Given the description of an element on the screen output the (x, y) to click on. 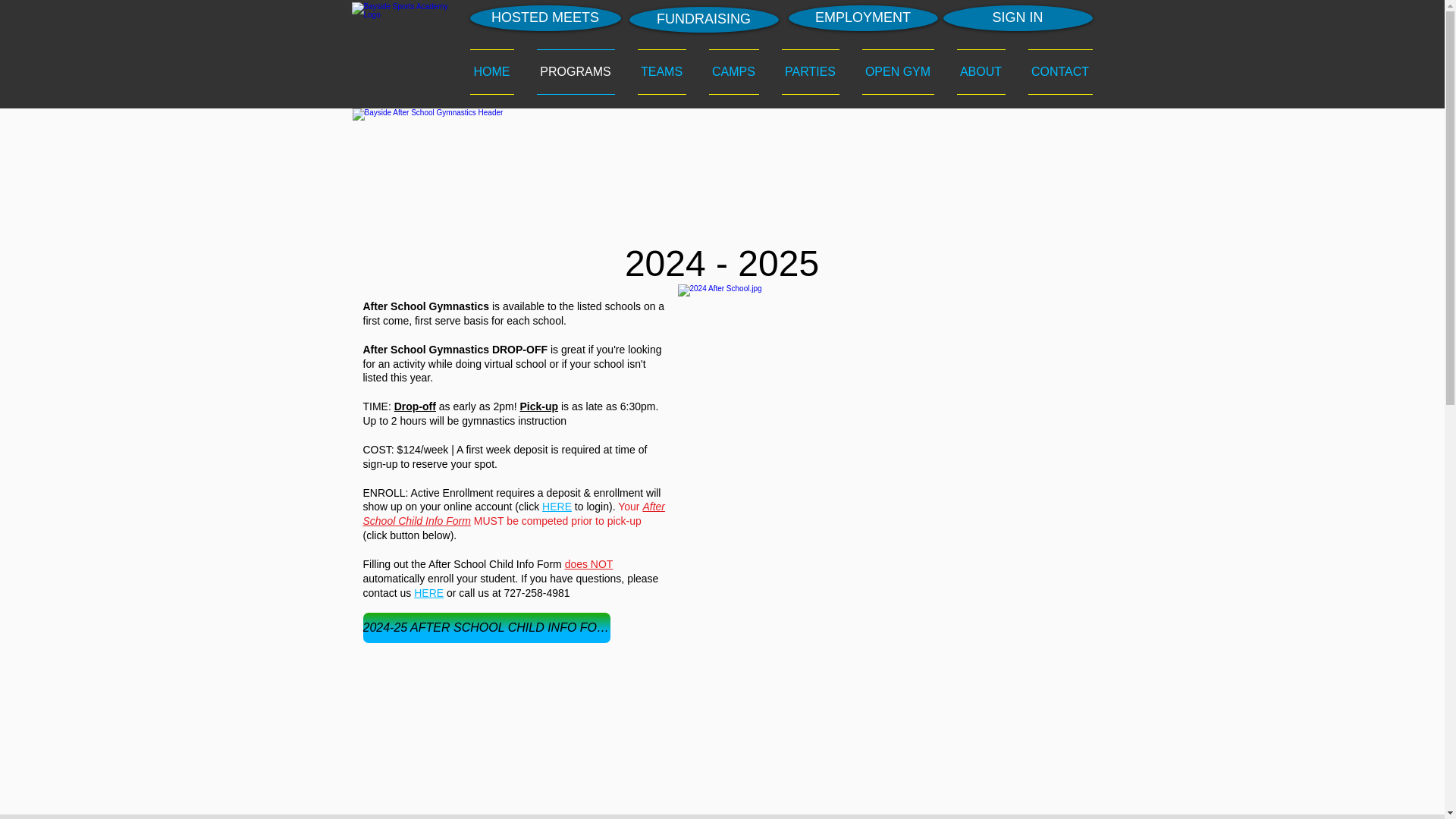
PARTIES (810, 72)
2024-25 AFTER SCHOOL CHILD INFO FORM (486, 627)
ColorLogoNEW2016.png (401, 52)
CONTACT (1054, 72)
OPEN GYM (897, 72)
PROGRAMS (575, 72)
HOME (497, 72)
SIGN IN (1018, 17)
HERE (556, 506)
CAMPS (733, 72)
